Given the description of an element on the screen output the (x, y) to click on. 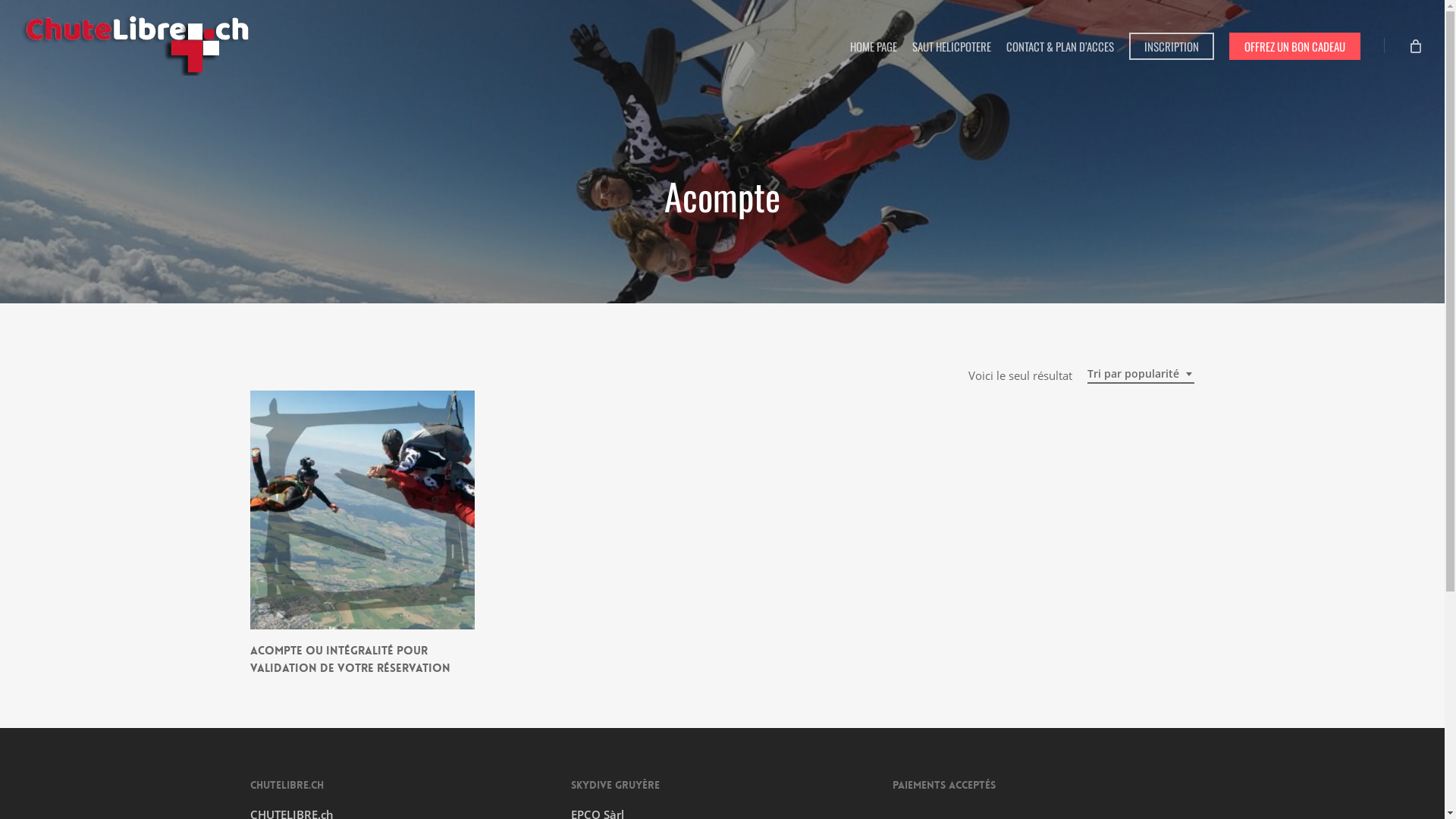
INSCRIPTION Element type: text (1171, 45)
OFFREZ UN BON CADEAU Element type: text (1294, 45)
HOME PAGE Element type: text (873, 45)
SAUT HELICPOTERE Element type: text (951, 45)
